Given the description of an element on the screen output the (x, y) to click on. 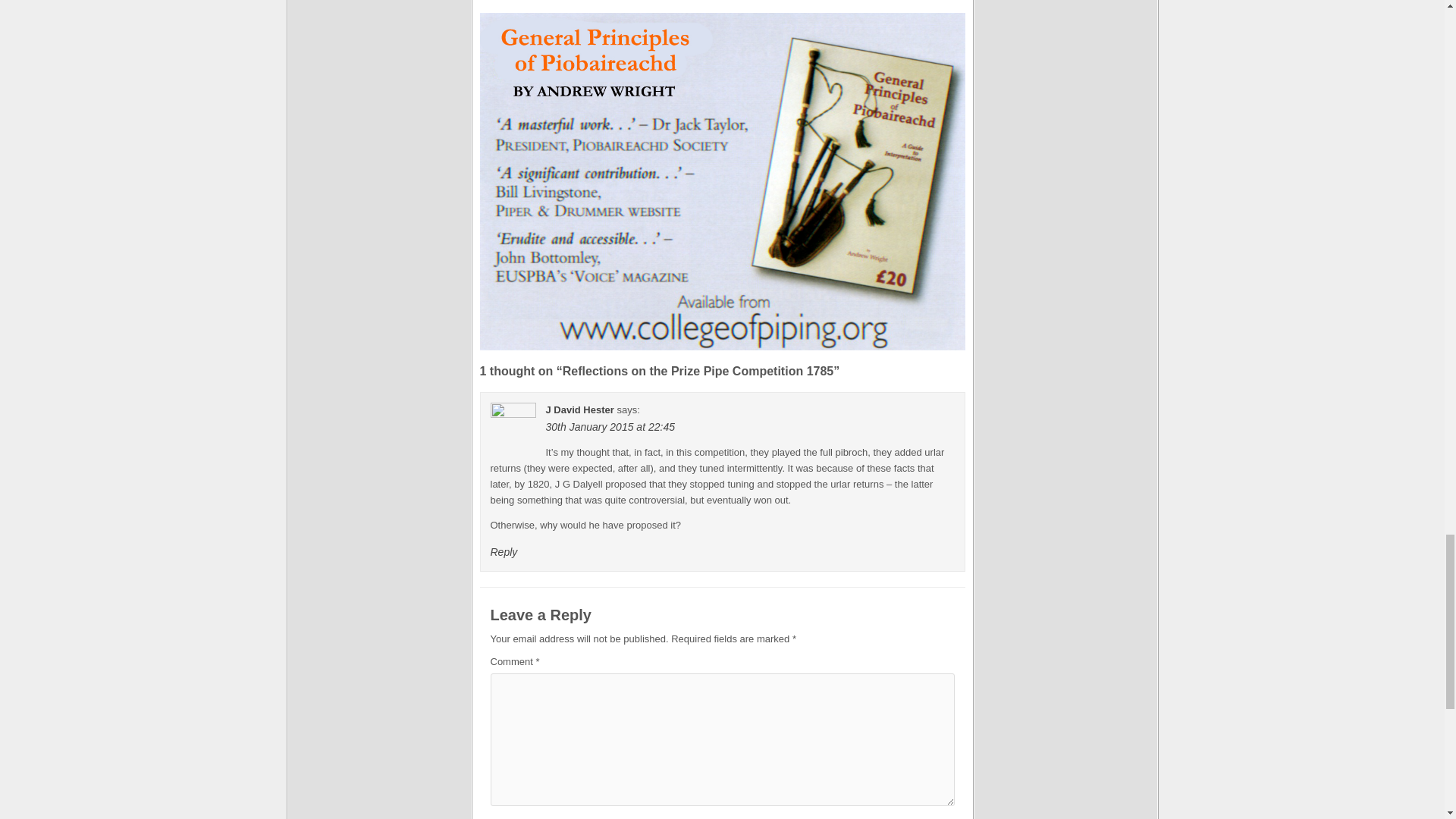
J David Hester (580, 409)
